Given the description of an element on the screen output the (x, y) to click on. 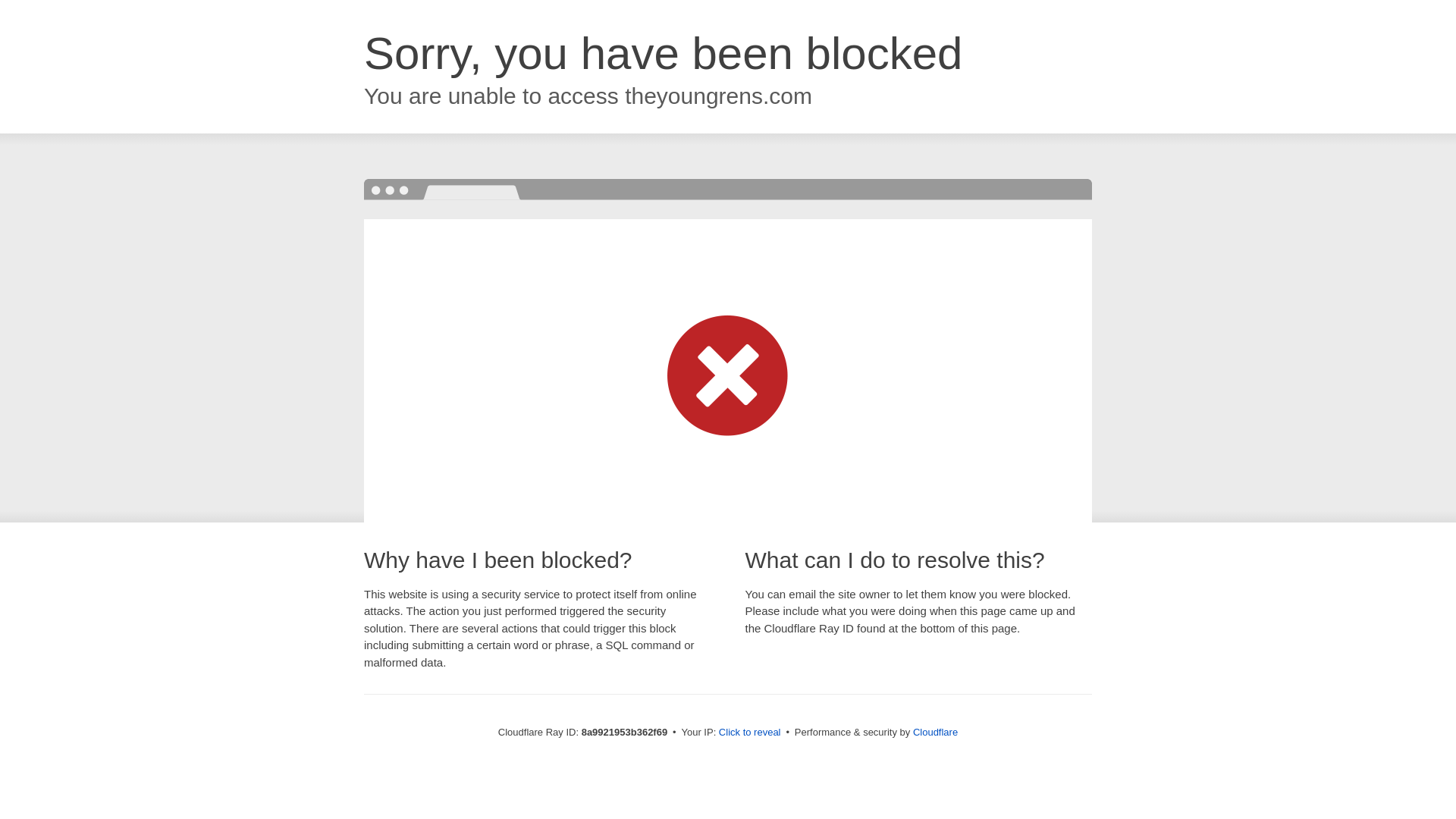
Click to reveal (749, 732)
Cloudflare (935, 731)
